Given the description of an element on the screen output the (x, y) to click on. 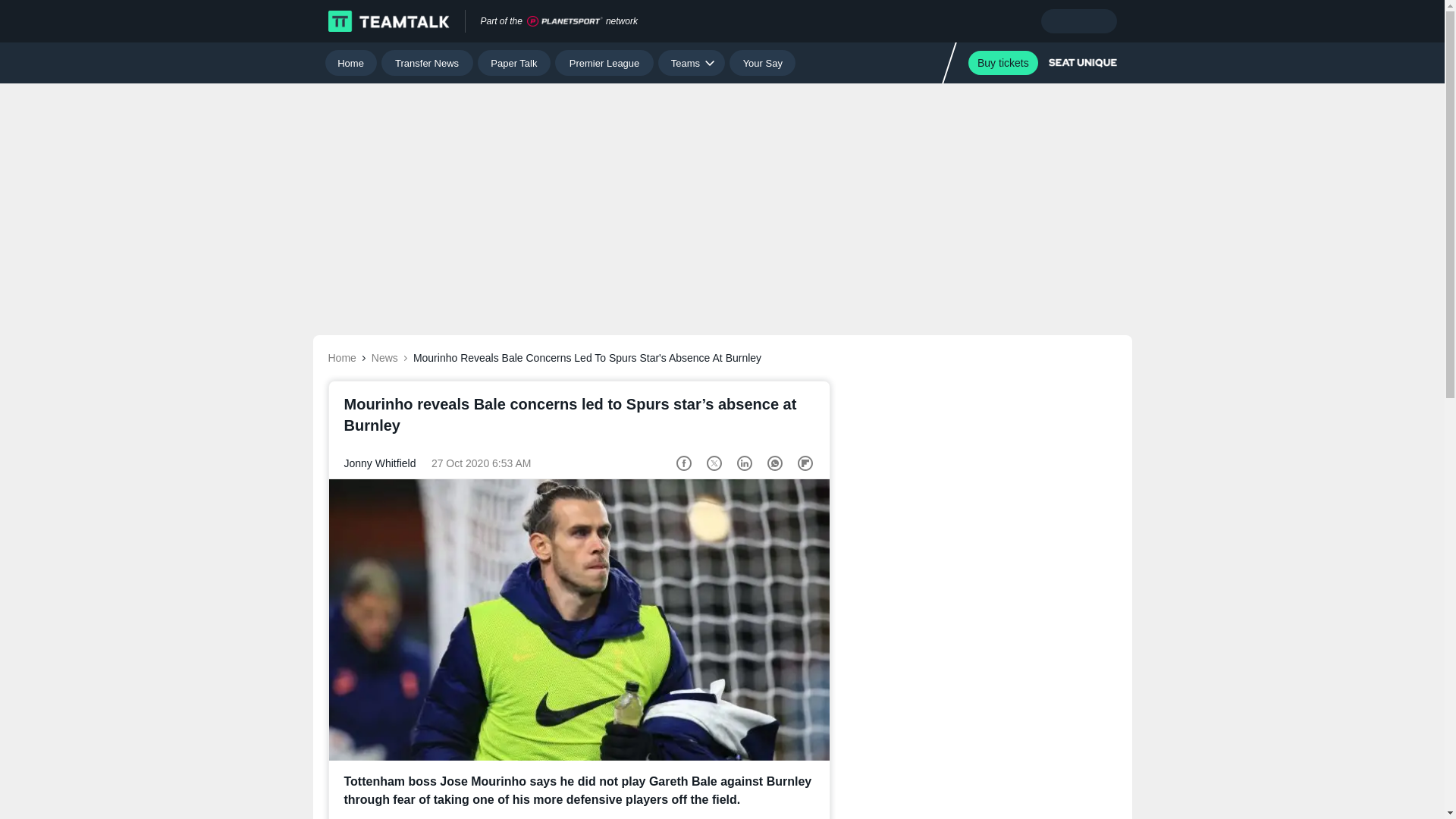
Paper Talk (514, 62)
Teams (691, 62)
Posts by Jonny Whitfield (379, 463)
Premier League (603, 62)
Transfer News (427, 62)
Your Say (761, 62)
Buy tickets (1003, 62)
Home (349, 62)
